Given the description of an element on the screen output the (x, y) to click on. 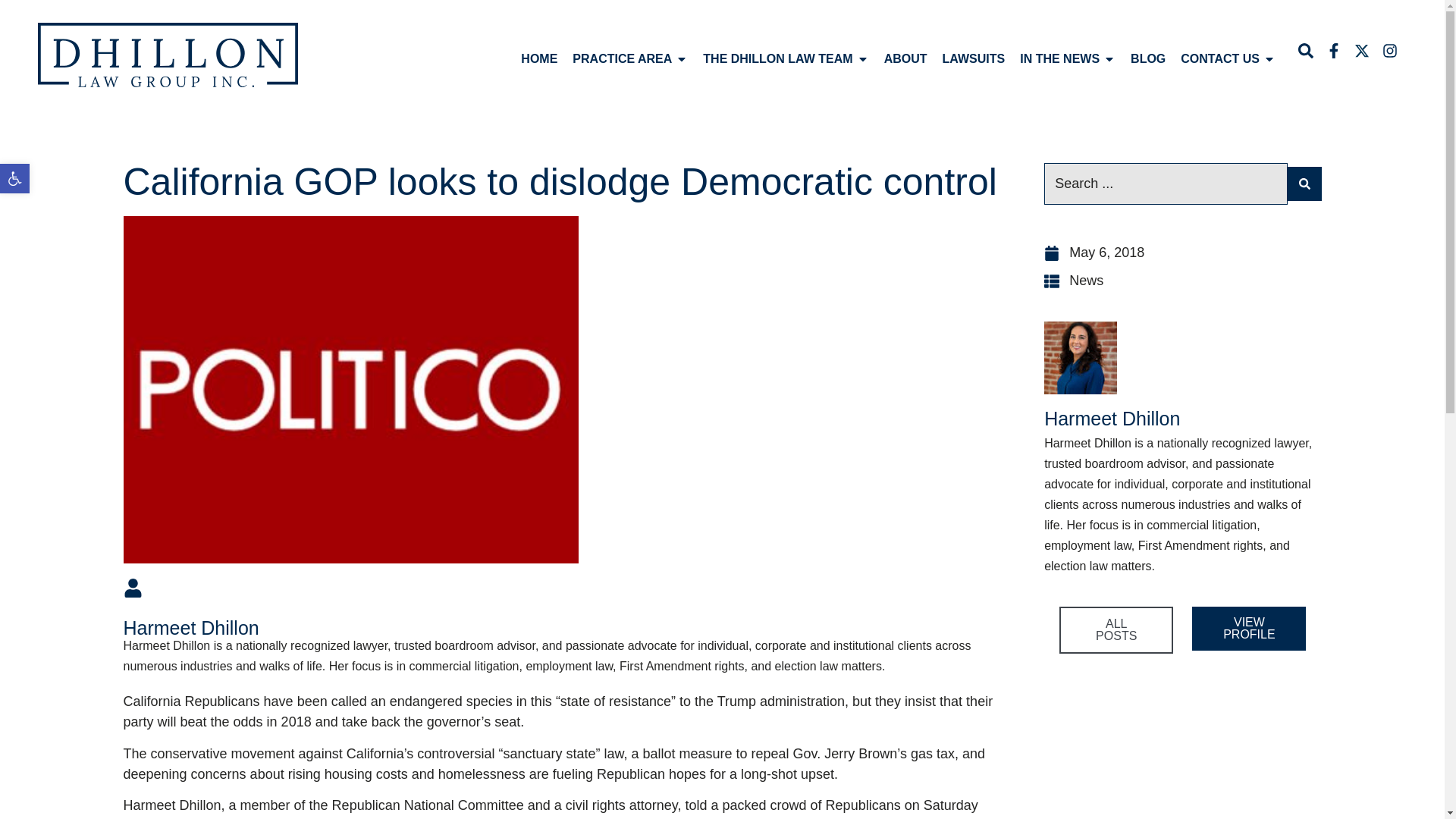
HOME (539, 58)
Accessibility Tools (14, 178)
Accessibility Tools (14, 178)
